Given the description of an element on the screen output the (x, y) to click on. 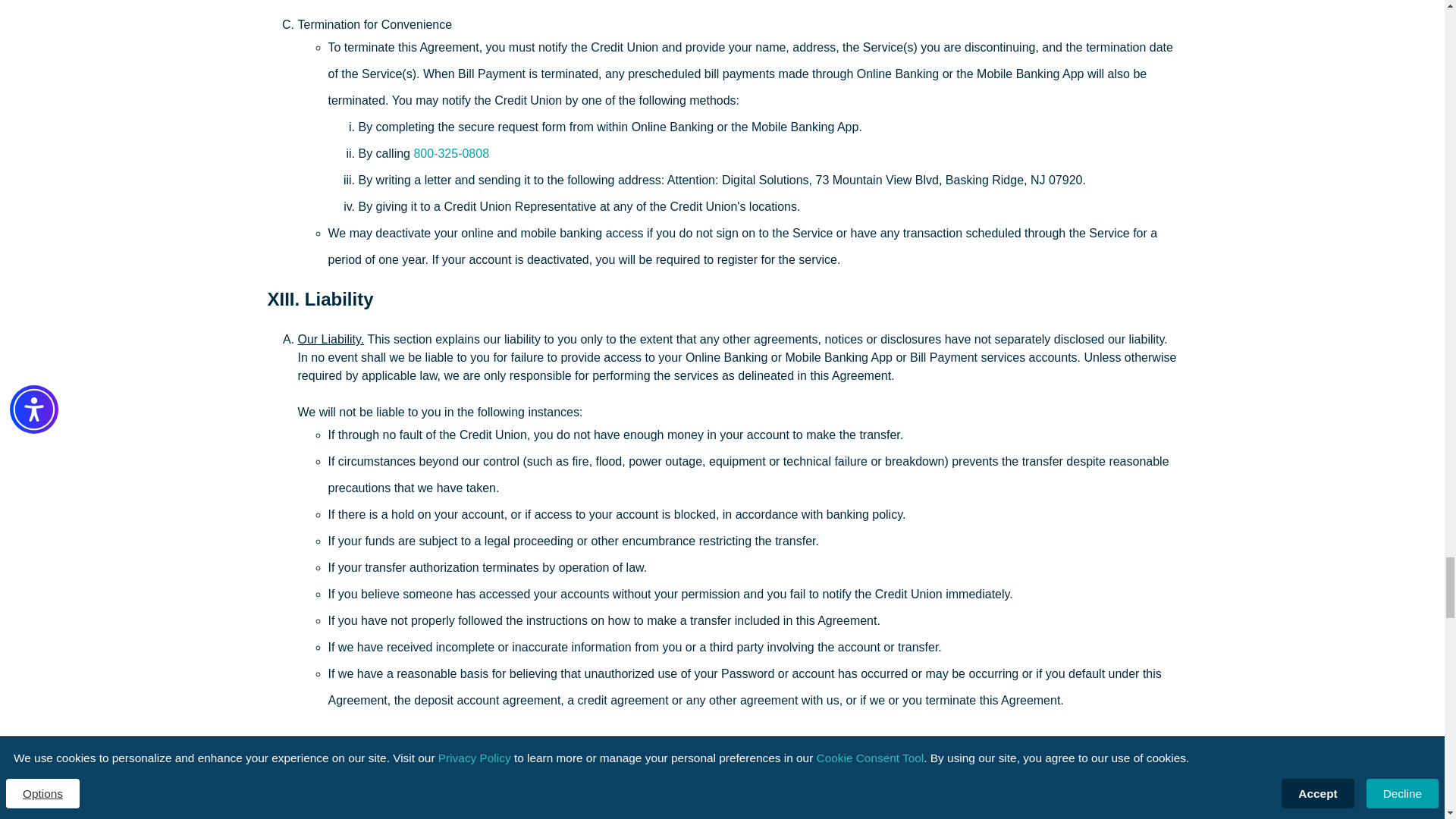
Dial 1-800-325-0808 (451, 153)
